Given the description of an element on the screen output the (x, y) to click on. 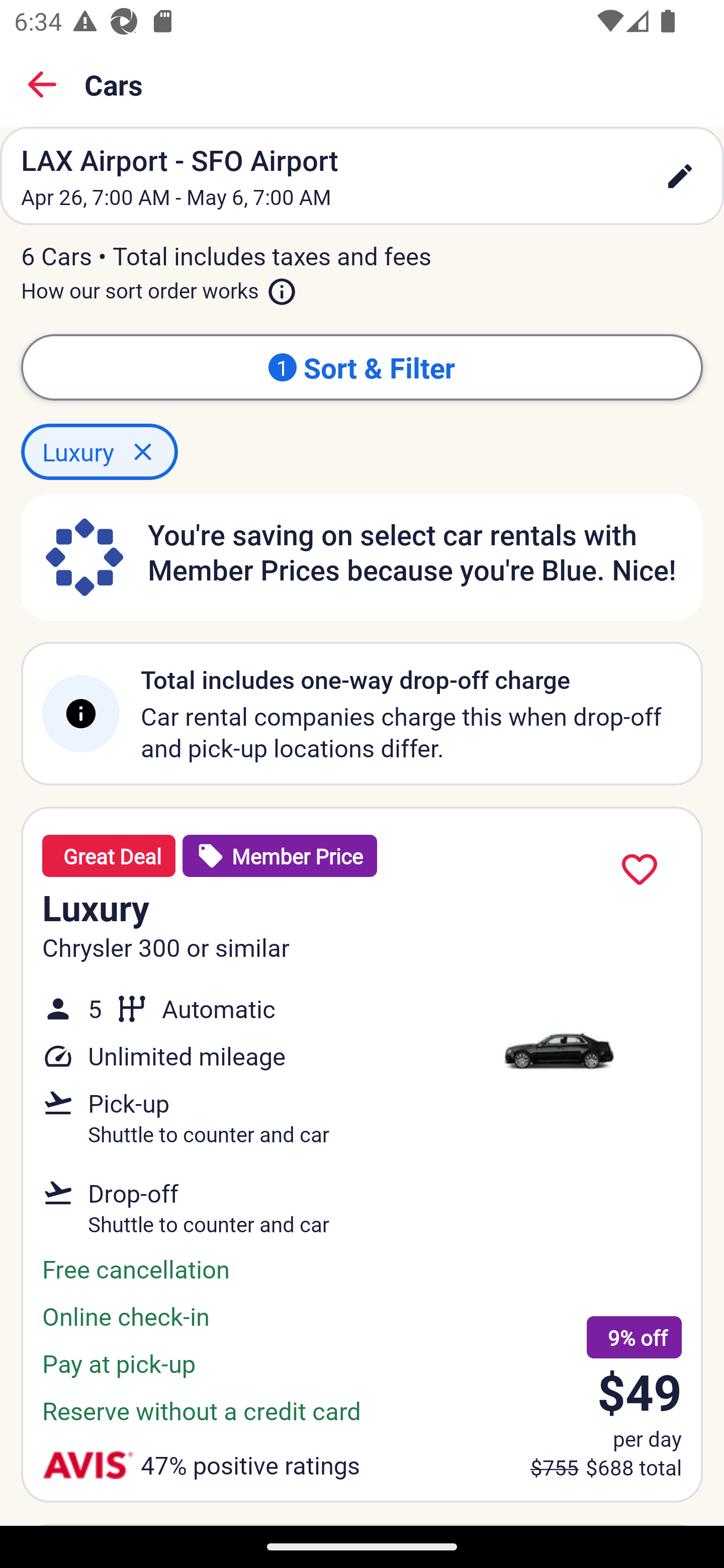
Back (42, 84)
edit (679, 175)
1 Sort & Filter (361, 366)
